Given the description of an element on the screen output the (x, y) to click on. 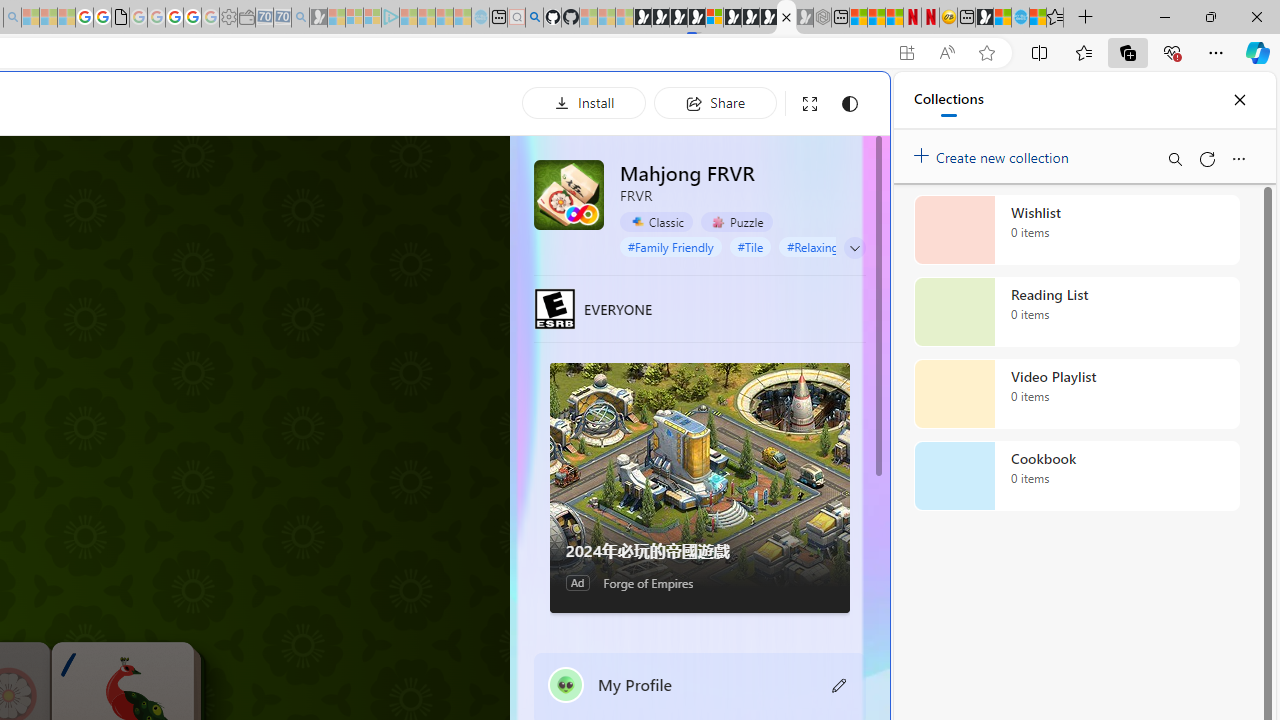
Services - Maintenance | Sky Blue Bikes - Sky Blue Bikes (1020, 17)
EVERYONE (554, 308)
Sign in to your account (714, 17)
